Given the description of an element on the screen output the (x, y) to click on. 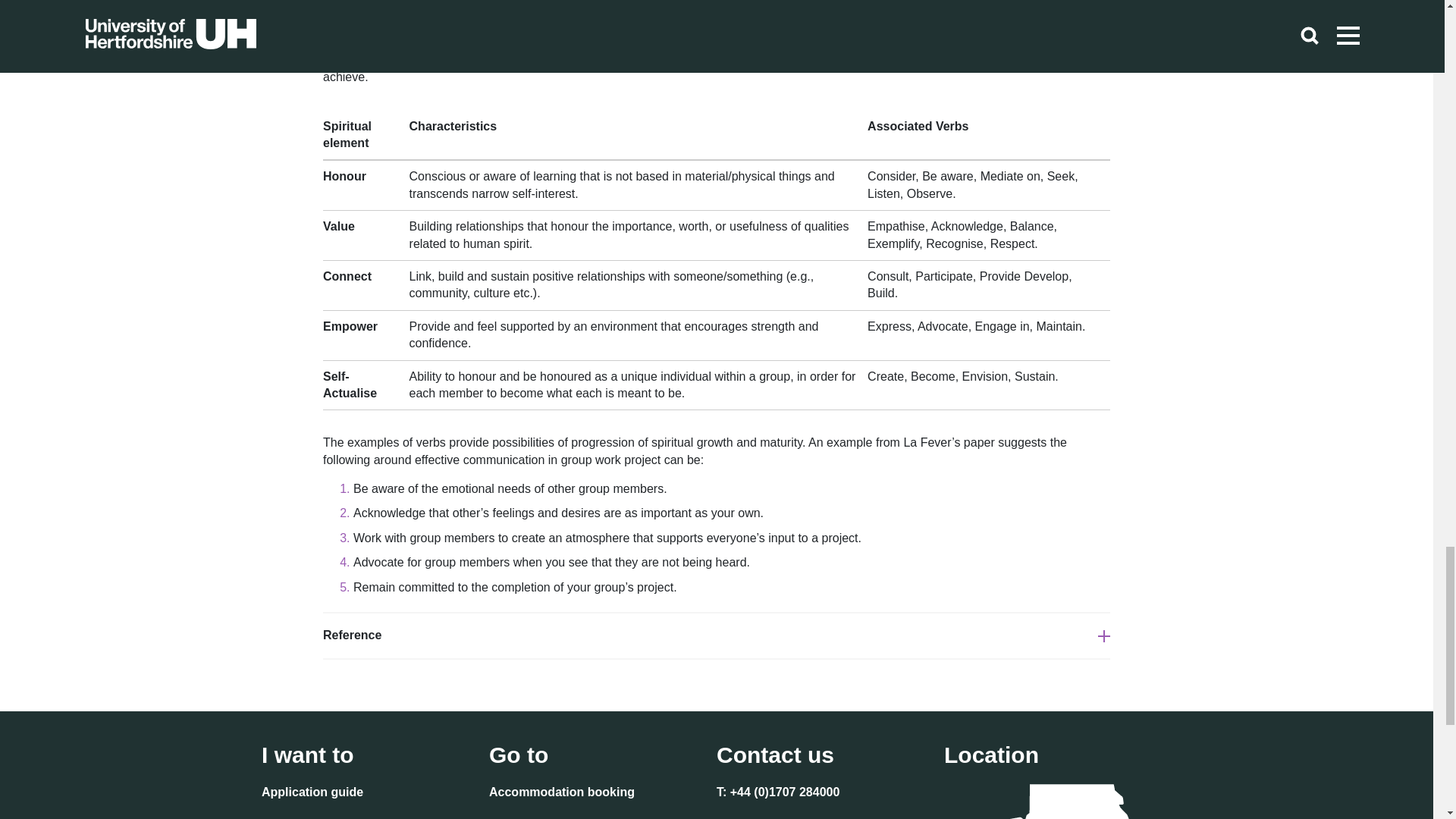
Application guide (312, 793)
Accommodation booking (561, 793)
